Given the description of an element on the screen output the (x, y) to click on. 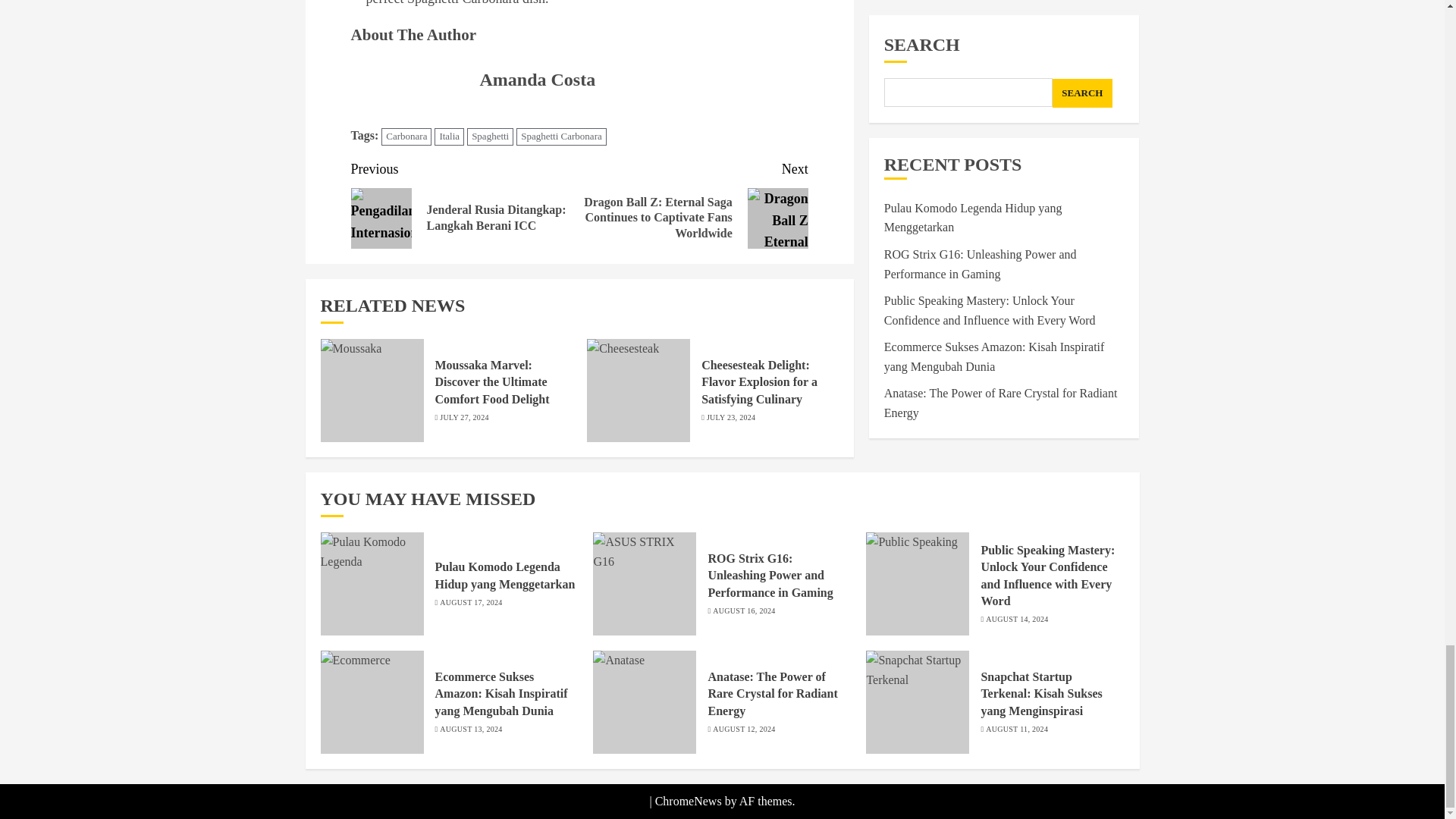
JULY 23, 2024 (730, 417)
Moussaka Marvel: Discover the Ultimate Comfort Food Delight (492, 382)
Carbonara (405, 136)
JULY 27, 2024 (463, 417)
Italia (448, 136)
Spaghetti Carbonara (561, 136)
Spaghetti (490, 136)
